Given the description of an element on the screen output the (x, y) to click on. 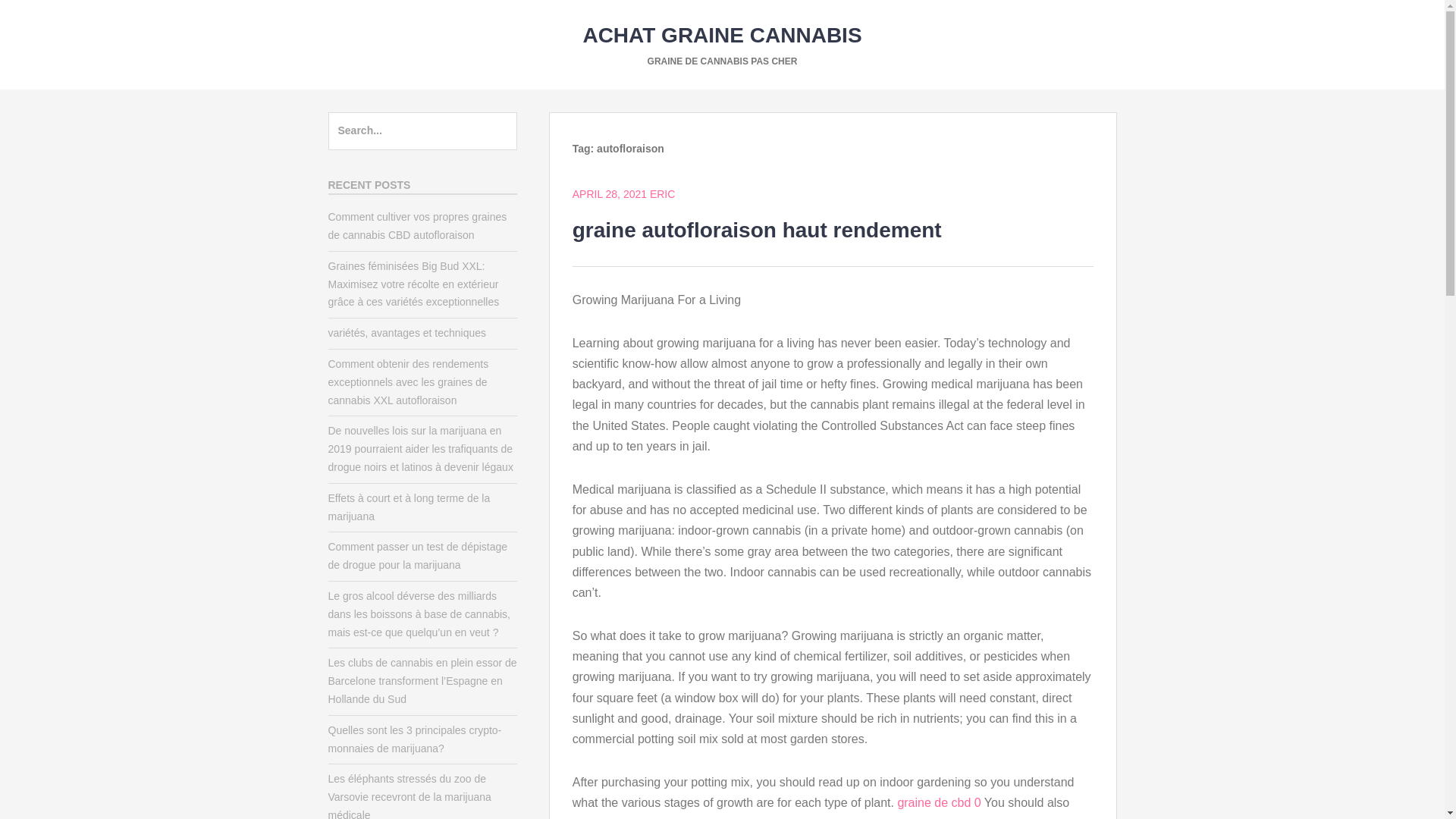
Search (44, 18)
graine autofloraison haut rendement (757, 229)
graine de cbd 0 (937, 802)
Search for: (421, 130)
ACHAT GRAINE CANNABIS (721, 34)
Quelles sont les 3 principales crypto-monnaies de marijuana? (413, 738)
APRIL 28, 2021 (609, 193)
